Given the description of an element on the screen output the (x, y) to click on. 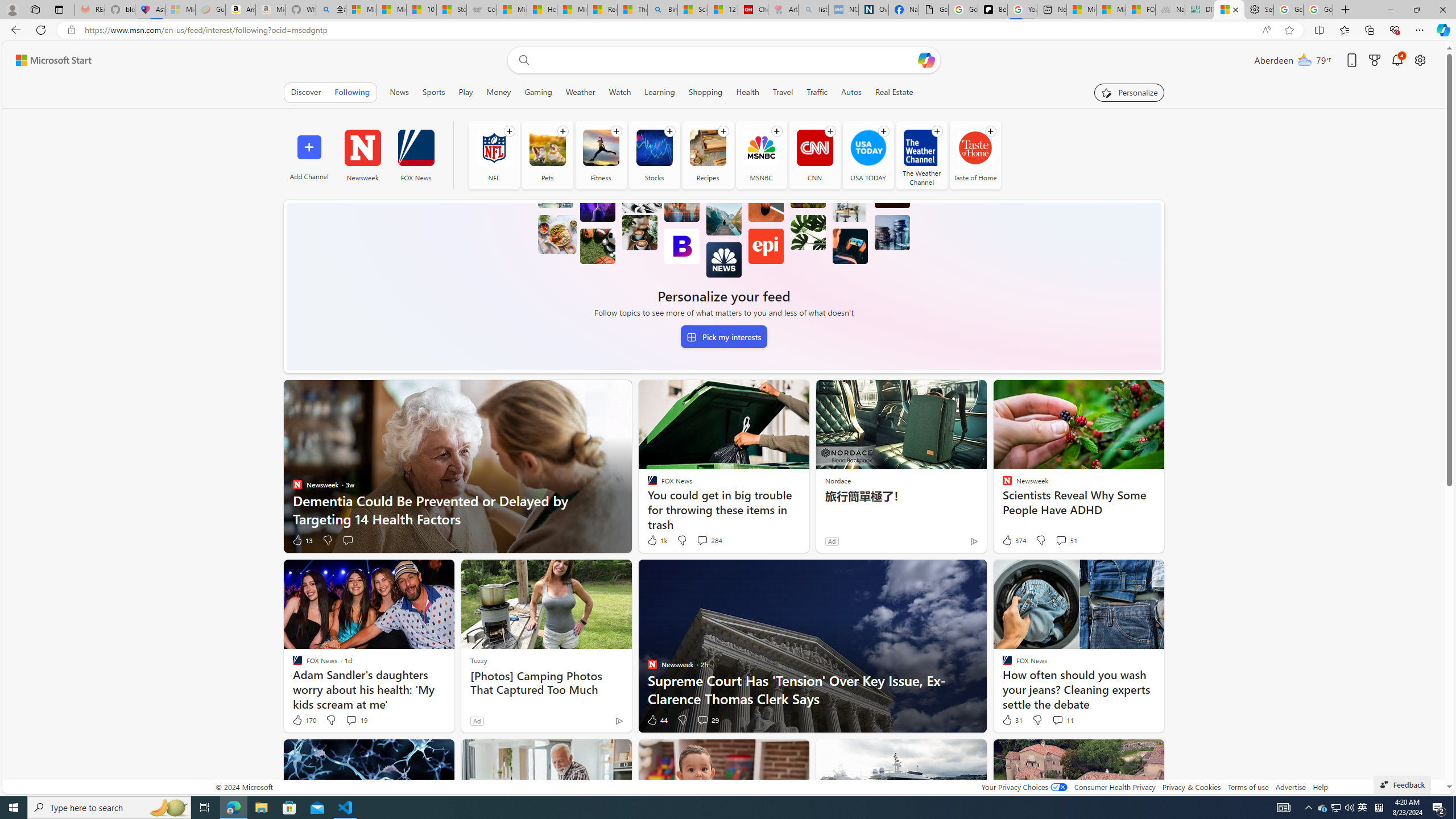
View comments 29 Comment (707, 719)
Sports (434, 92)
NFL (493, 155)
Gaming (537, 92)
Recipes (707, 155)
Consumer Health Privacy (1115, 786)
Learning (659, 92)
Add Channel (308, 155)
